Given the description of an element on the screen output the (x, y) to click on. 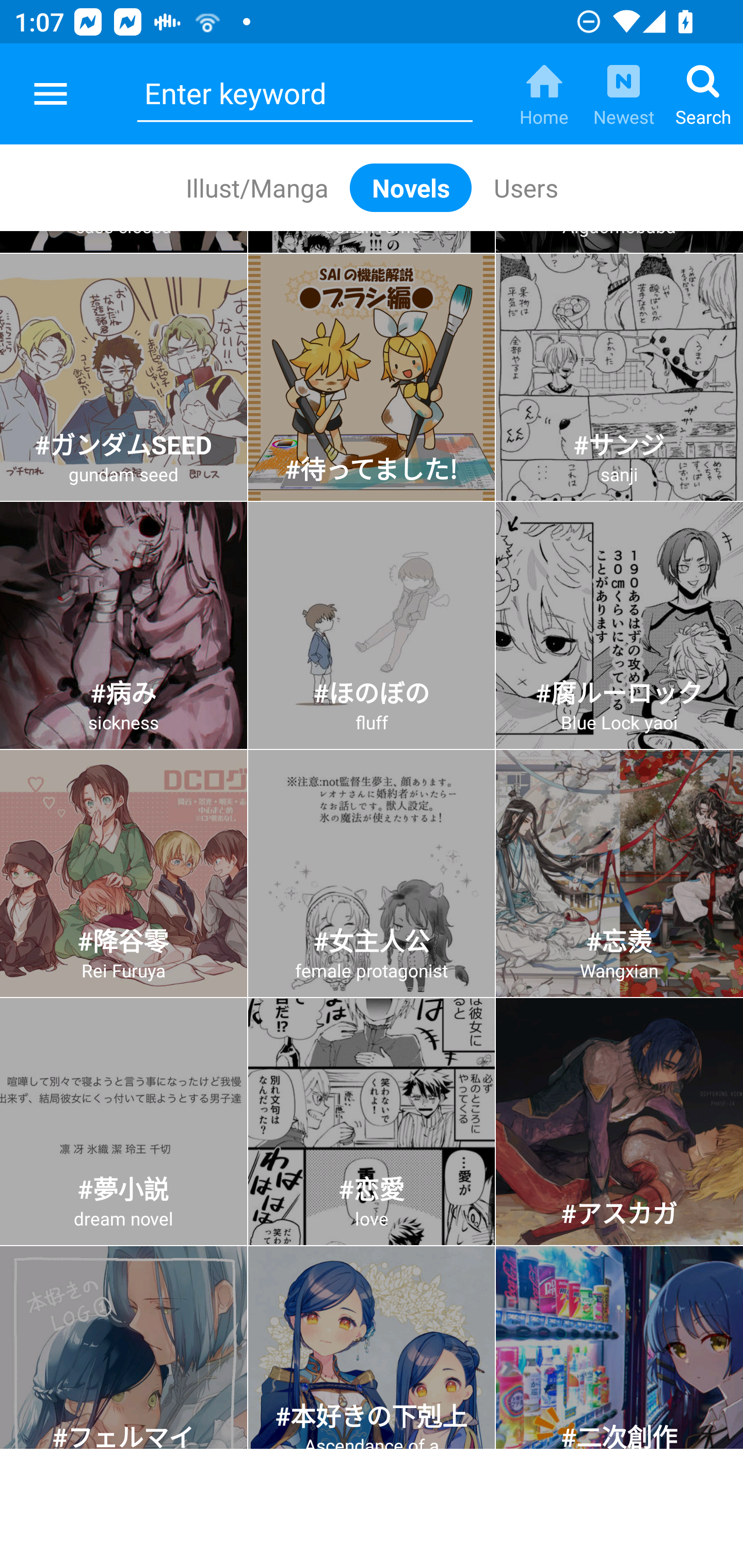
pixiv (50, 93)
Home (543, 93)
Newest (623, 93)
Illust/Manga (256, 187)
Novels (410, 187)
Users (525, 187)
